Given the description of an element on the screen output the (x, y) to click on. 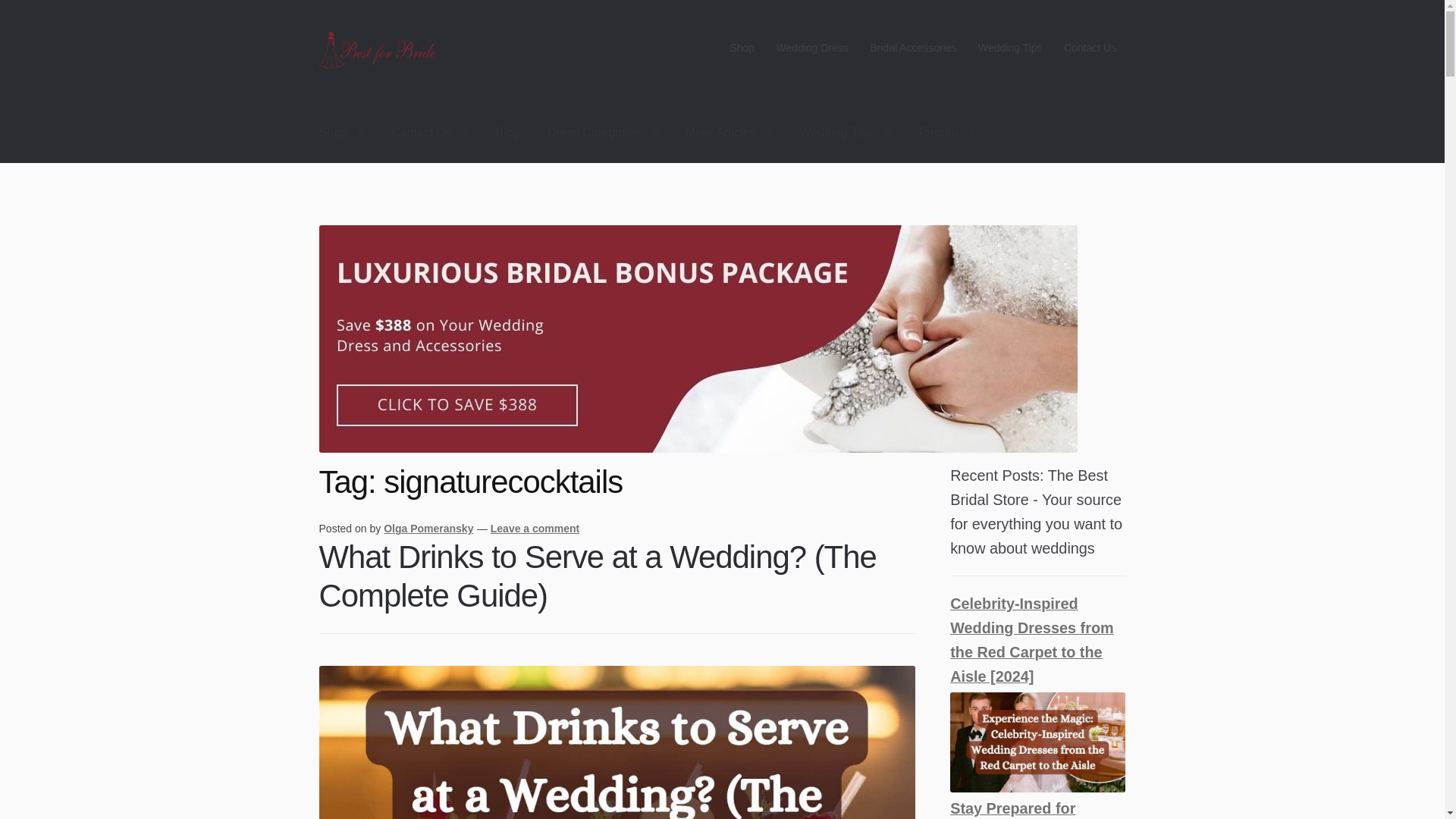
Contact Us (1089, 47)
Contact Us (429, 133)
Wedding Tips (1010, 47)
Wedding Dress (812, 47)
Bridal Accessories (913, 47)
Shop (741, 47)
More Articles (728, 133)
Dress Categories (602, 133)
Shop (341, 133)
